Given the description of an element on the screen output the (x, y) to click on. 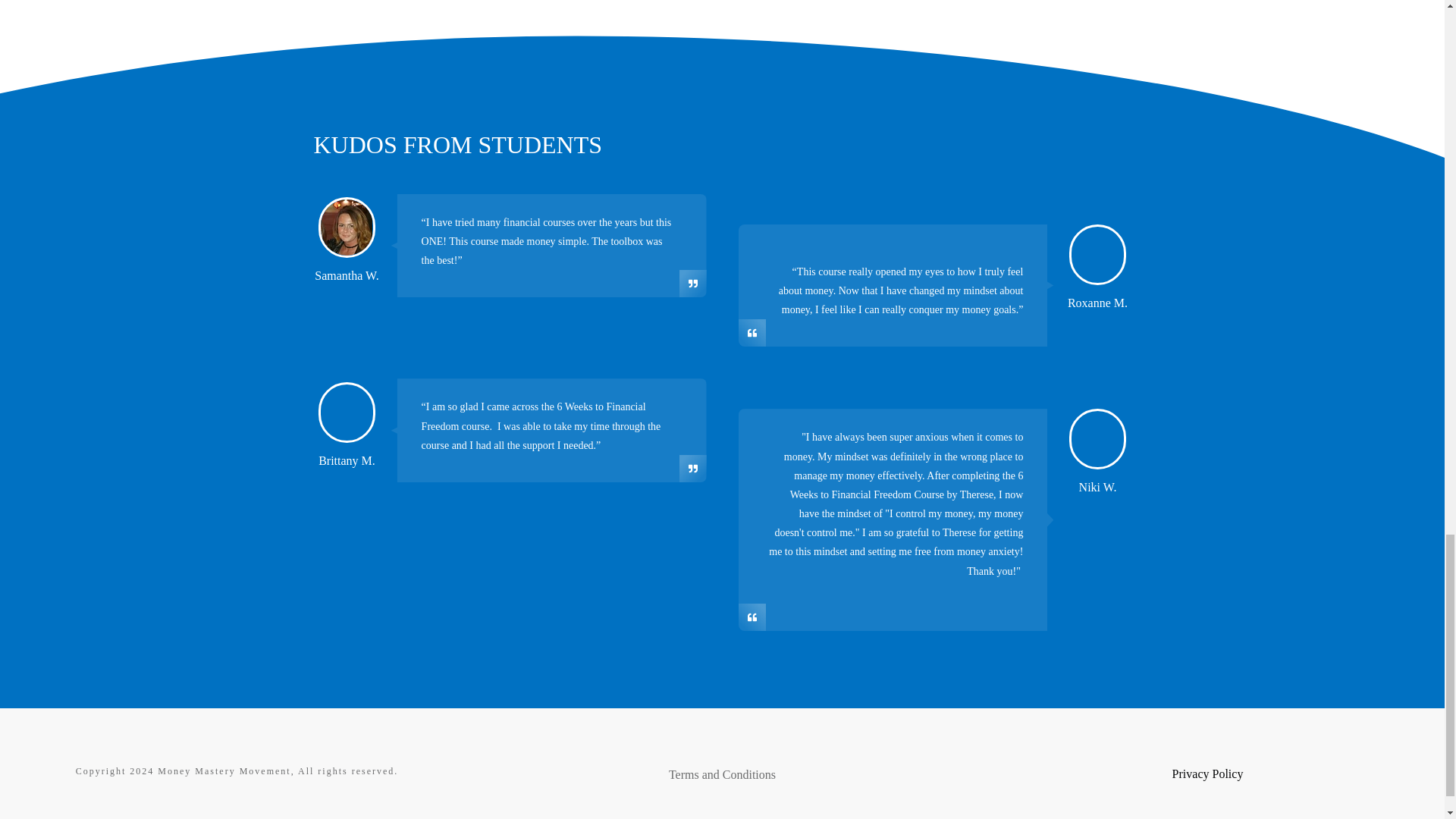
brittany (346, 412)
Privacy Policy (1207, 773)
Terms and Conditions (722, 774)
Niki Wiltshire (1096, 438)
roxanne marcum (1096, 254)
samantha wagner (346, 227)
